Given the description of an element on the screen output the (x, y) to click on. 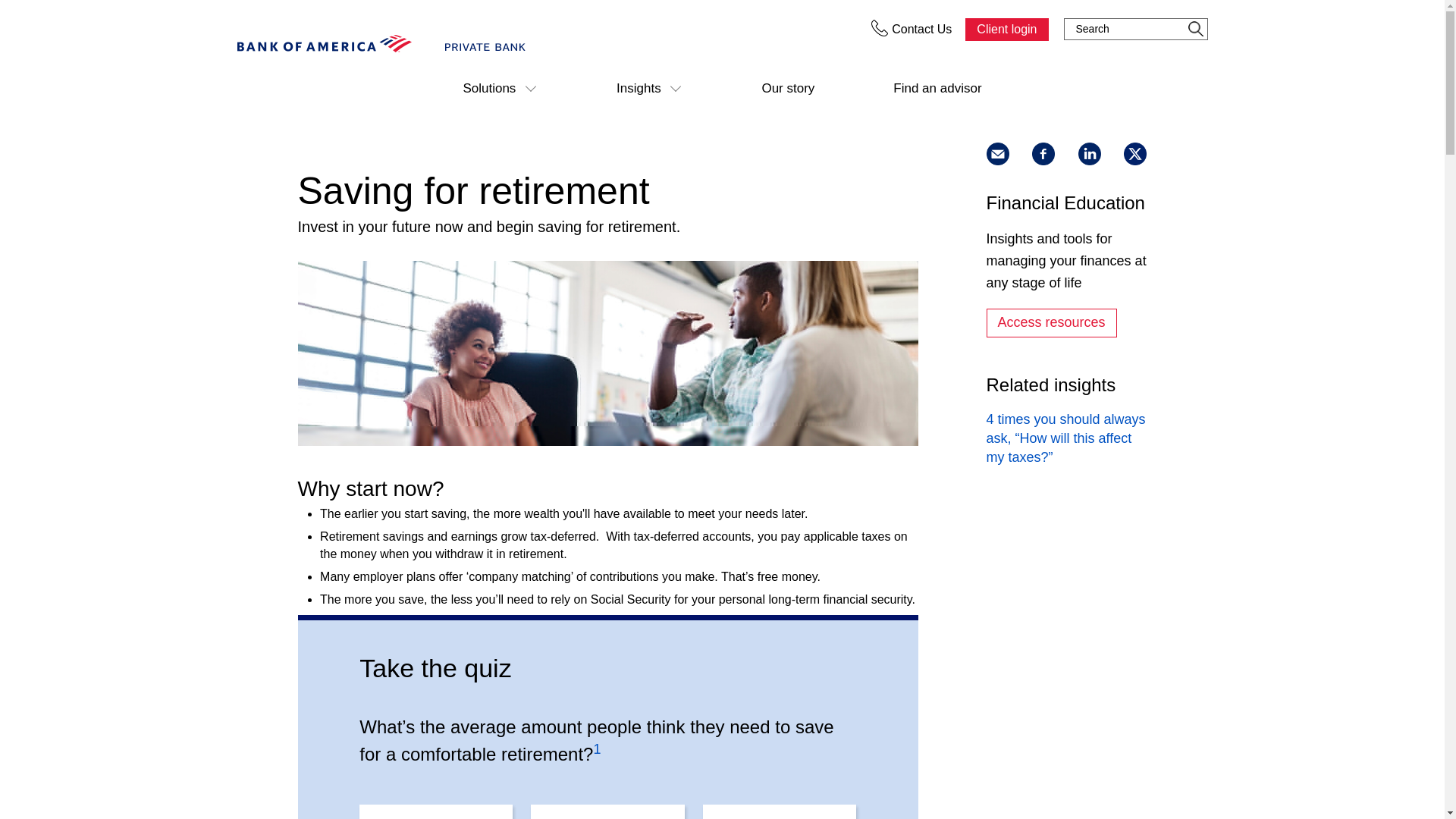
Contact Us (902, 29)
Solutions (499, 88)
Client login (1006, 29)
Share this via x (1135, 153)
Share this via email (997, 153)
Share this via linkedin (1089, 153)
Share this via facebook (1043, 153)
Insights (649, 88)
